Given the description of an element on the screen output the (x, y) to click on. 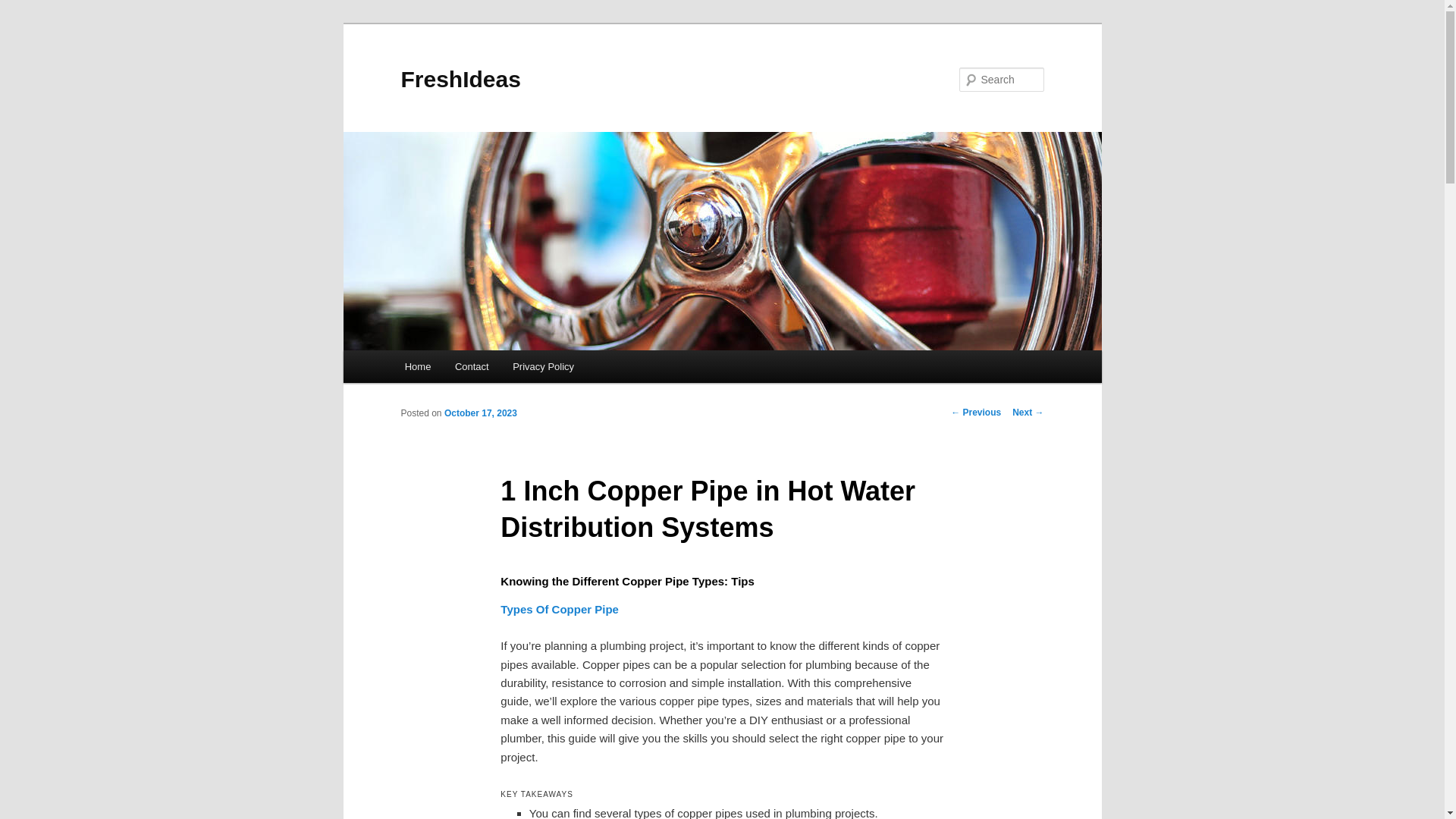
Contact (471, 366)
October 17, 2023 (480, 412)
Types Of Copper Pipe (559, 608)
Privacy Policy (542, 366)
Home (417, 366)
FreshIdeas (459, 78)
Search (24, 8)
3:40 pm (480, 412)
